Given the description of an element on the screen output the (x, y) to click on. 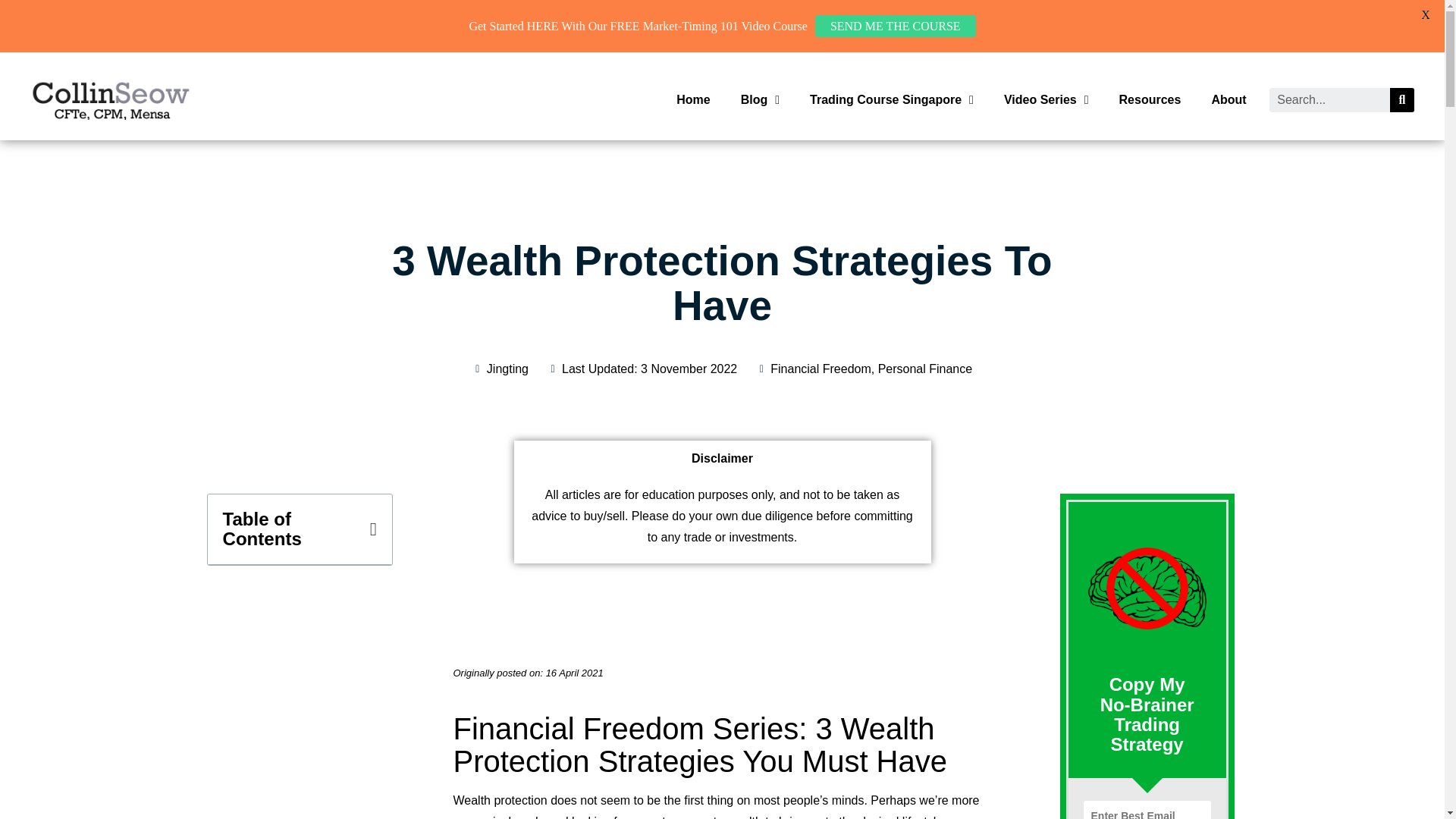
Search (1401, 99)
Home (693, 99)
About (1227, 99)
Search (1329, 99)
Resources (1149, 99)
Trading Course Singapore (891, 99)
Video Series (1045, 99)
Blog (759, 99)
